Given the description of an element on the screen output the (x, y) to click on. 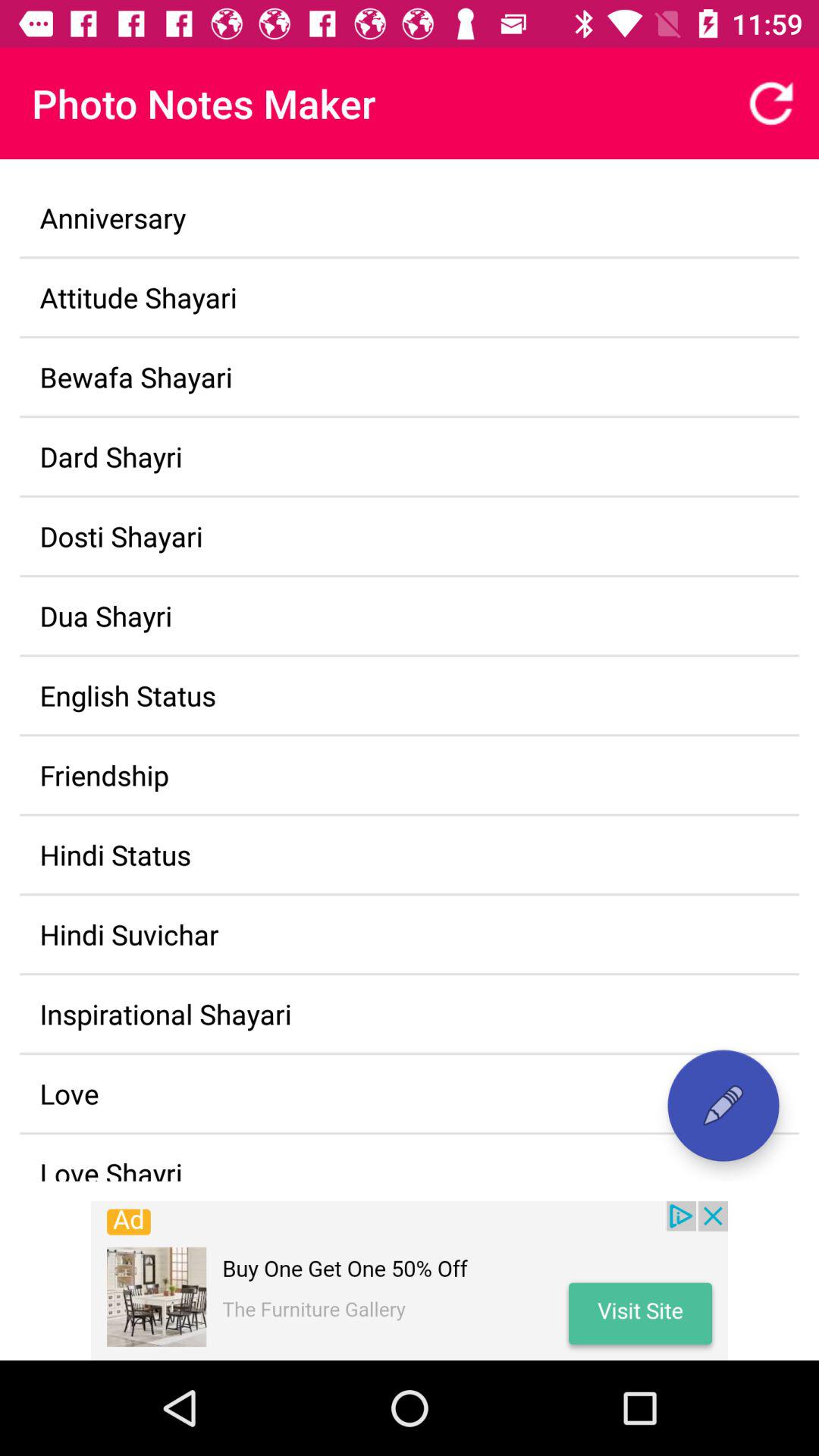
add writing (723, 1105)
